Given the description of an element on the screen output the (x, y) to click on. 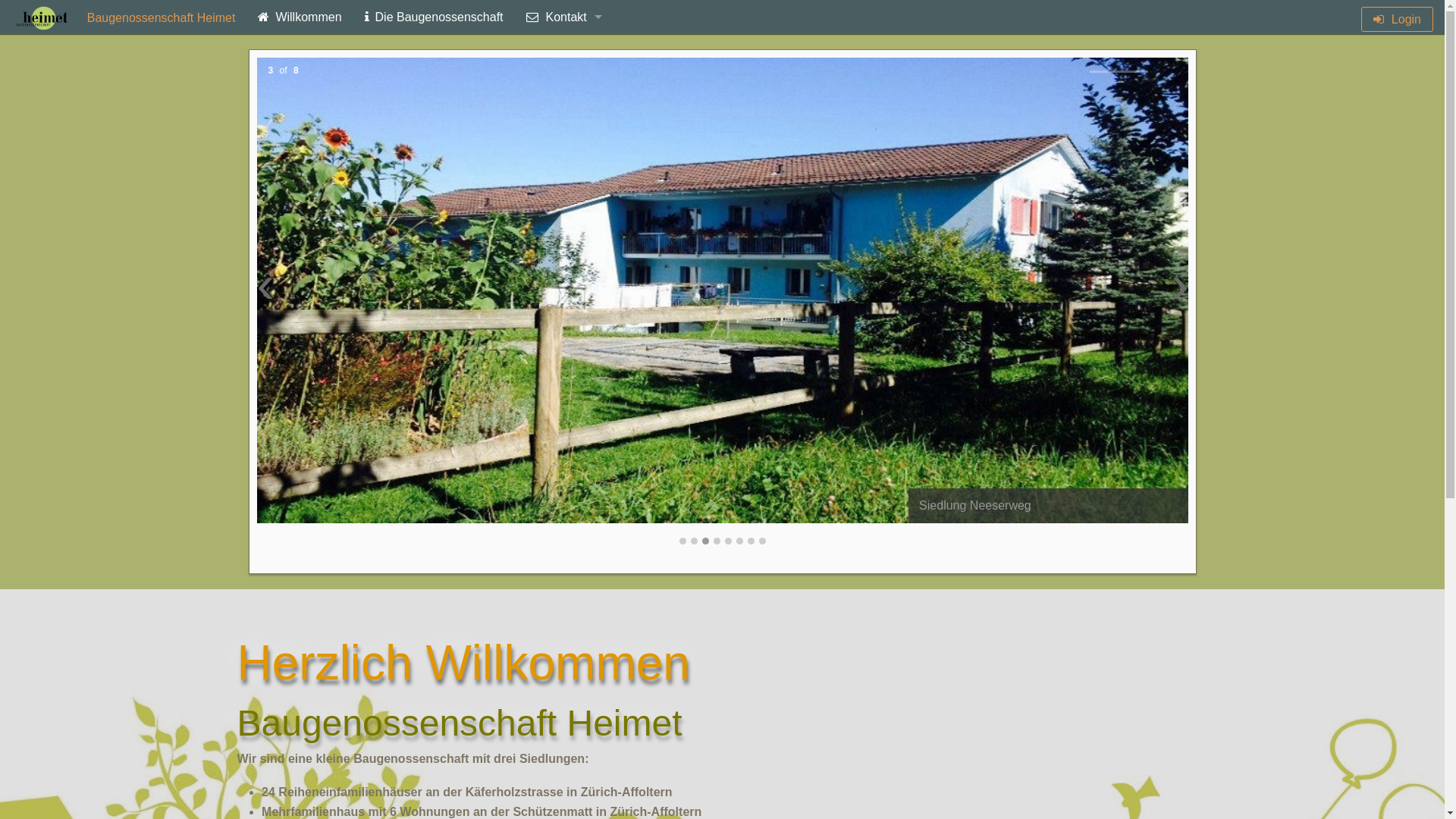
Bewerbung Element type: text (563, 119)
Kontaktpersonen Element type: text (563, 85)
Willkommen Element type: text (299, 17)
Login Element type: text (1397, 18)
Anschrift Element type: text (563, 51)
Die Baugenossenschaft Element type: text (433, 17)
Kontakt Element type: text (563, 17)
Baugenossenschaft Heimet Element type: text (123, 18)
Liegenschaften Element type: text (563, 154)
